Given the description of an element on the screen output the (x, y) to click on. 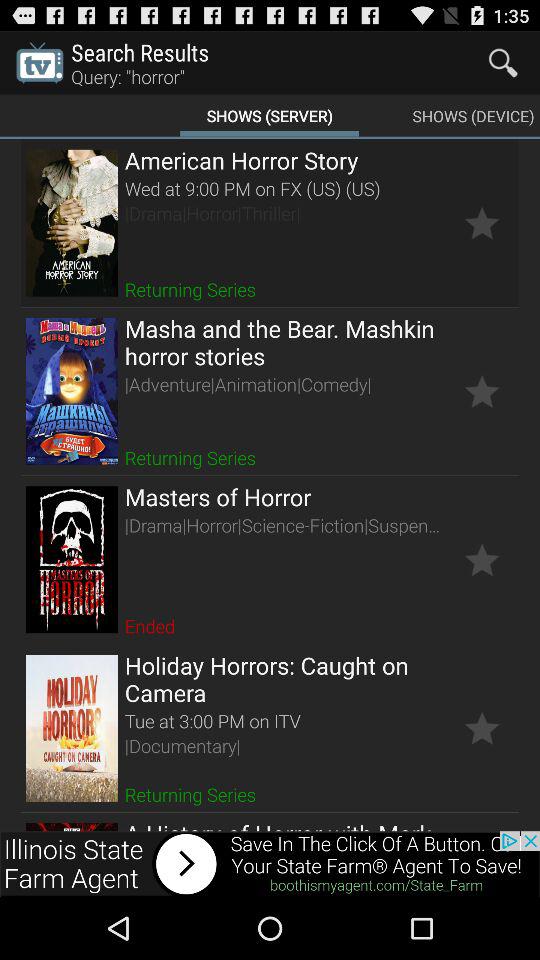
select the star symbol (481, 391)
